Given the description of an element on the screen output the (x, y) to click on. 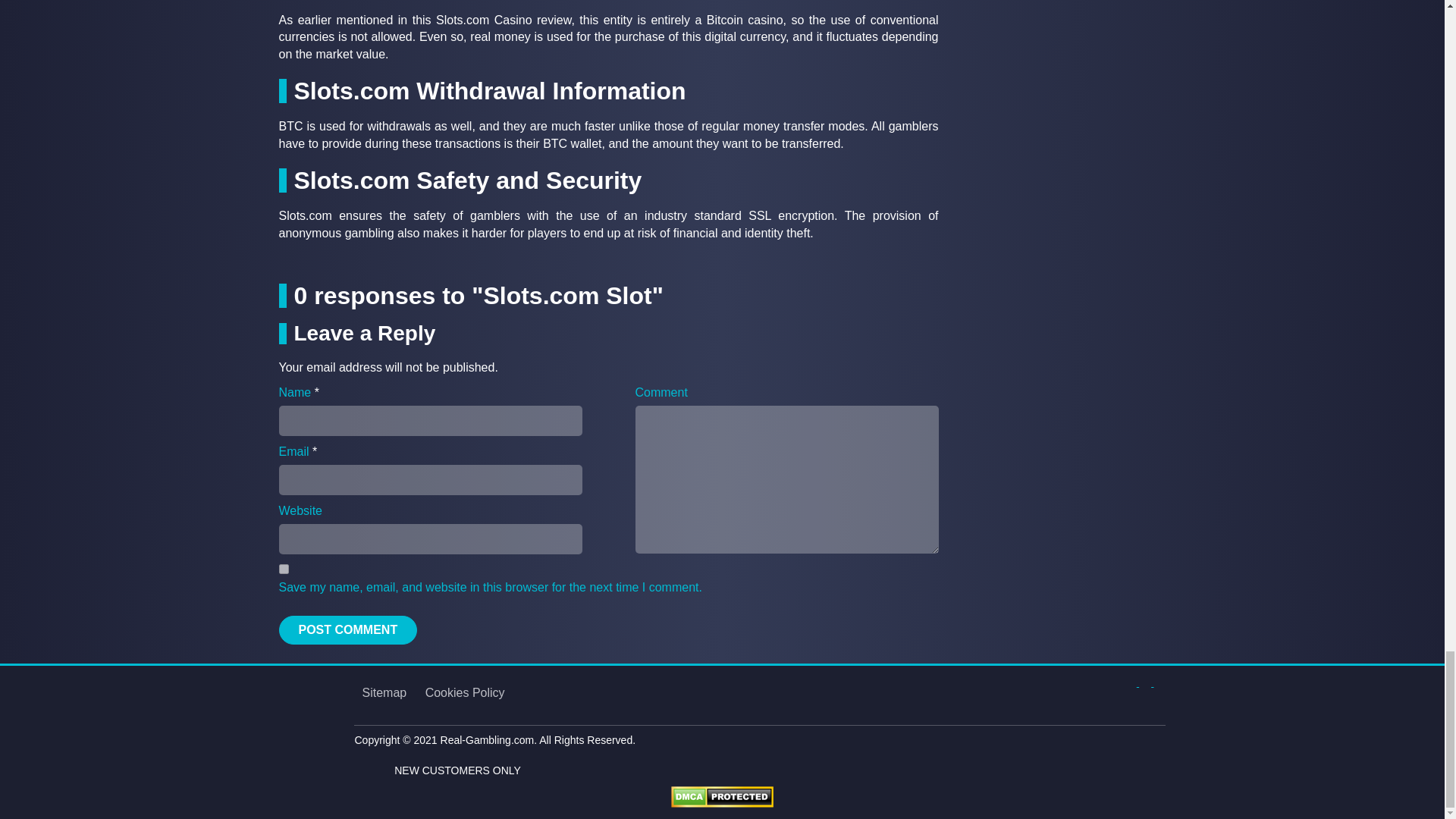
Post Comment (348, 629)
yes (283, 569)
DMCA.com Protection Status (722, 795)
